Given the description of an element on the screen output the (x, y) to click on. 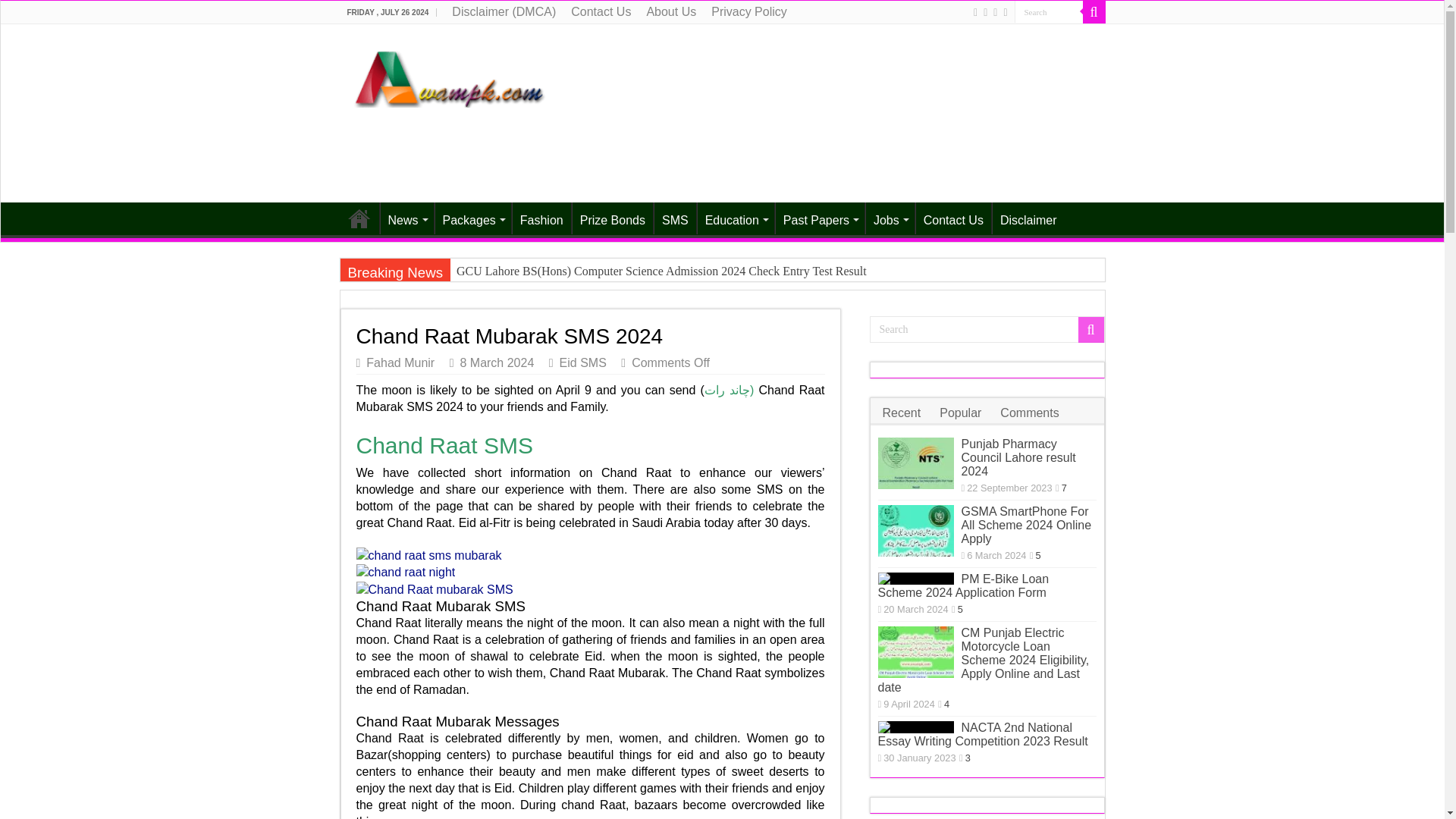
News (405, 218)
About Us (671, 11)
Fashion (541, 218)
Prize Bonds (612, 218)
Packages (472, 218)
Search (1048, 11)
Search (1094, 11)
Home (358, 218)
Search (986, 329)
Privacy Policy (748, 11)
Search (1048, 11)
Education (735, 218)
Search (1048, 11)
Contact Us (601, 11)
SMS (674, 218)
